Given the description of an element on the screen output the (x, y) to click on. 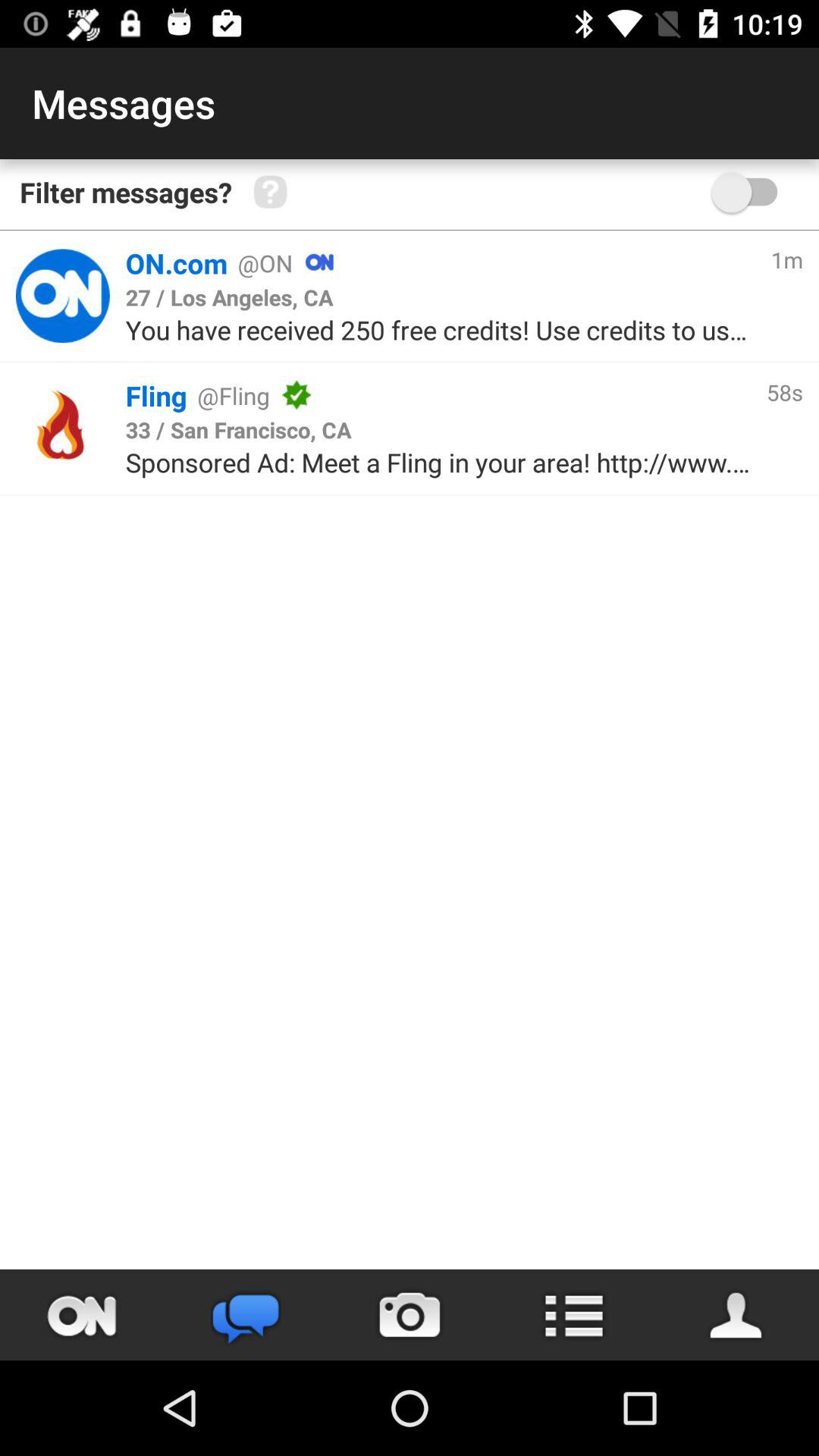
scroll to 27 los angeles icon (229, 297)
